Given the description of an element on the screen output the (x, y) to click on. 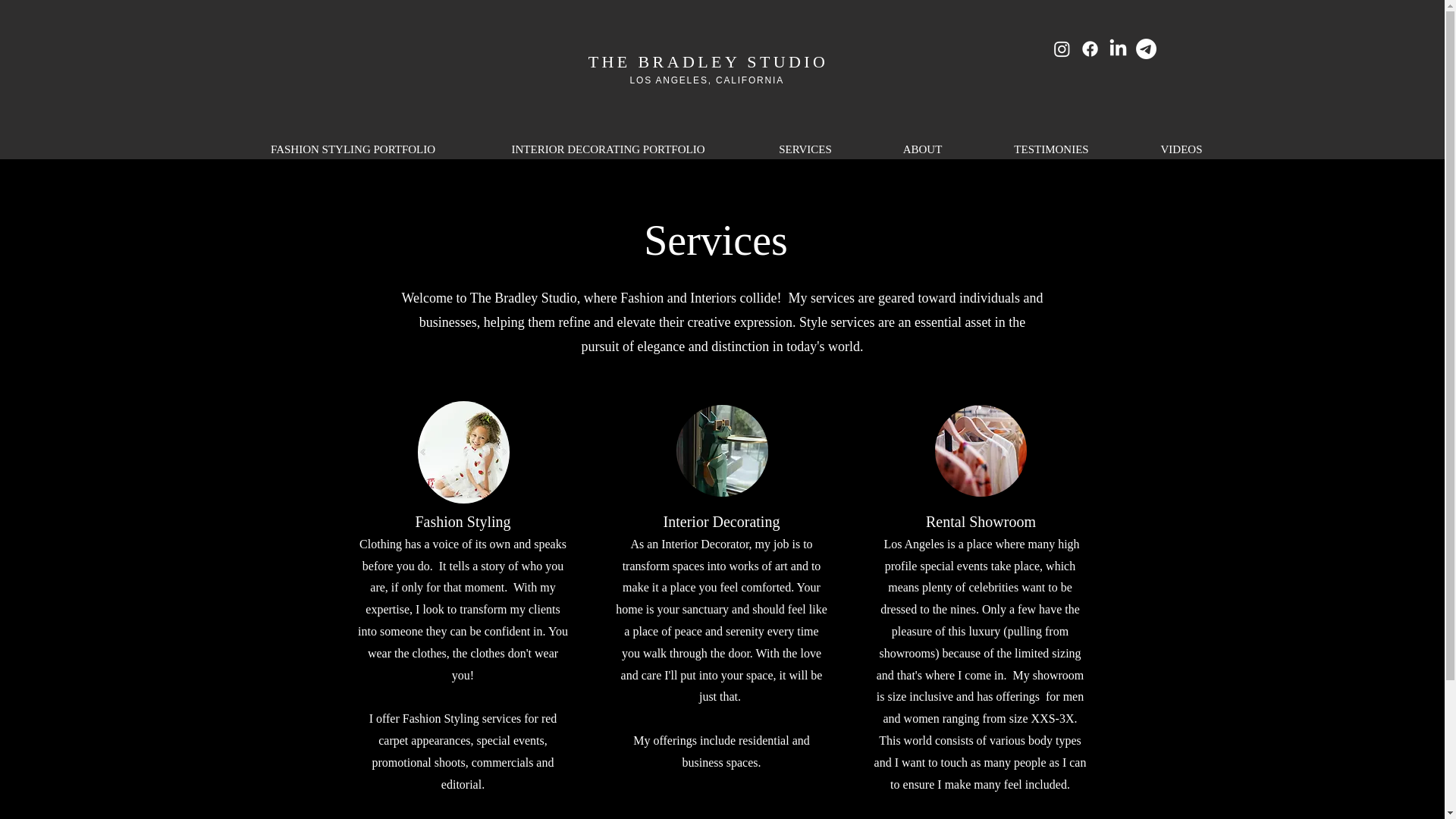
ABOUT (922, 149)
SERVICES (804, 149)
INTERIOR DECORATING PORTFOLIO (608, 149)
TESTIMONIES (1051, 149)
VIDEOS (1182, 149)
FASHION STYLING PORTFOLIO (352, 149)
